Given the description of an element on the screen output the (x, y) to click on. 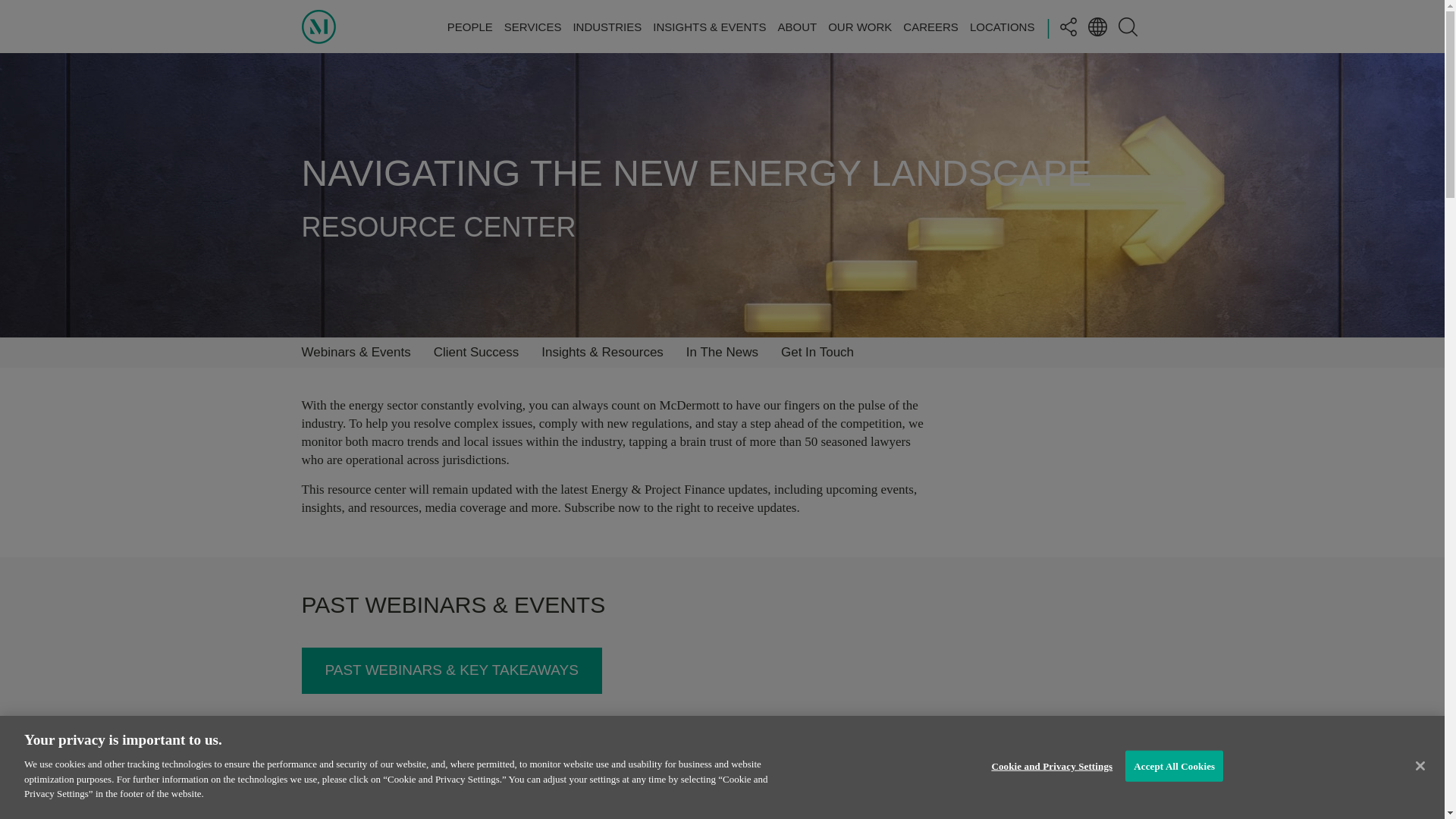
LOCATIONS (1002, 25)
In The News (721, 352)
ABOUT (796, 25)
Get In Touch (816, 352)
Get In Touch (816, 352)
Client Success (475, 352)
Client Success (475, 352)
SERVICES (532, 25)
OUR WORK (859, 25)
PEOPLE (469, 25)
INDUSTRIES (607, 25)
In The News (721, 352)
CAREERS (930, 25)
